Given the description of an element on the screen output the (x, y) to click on. 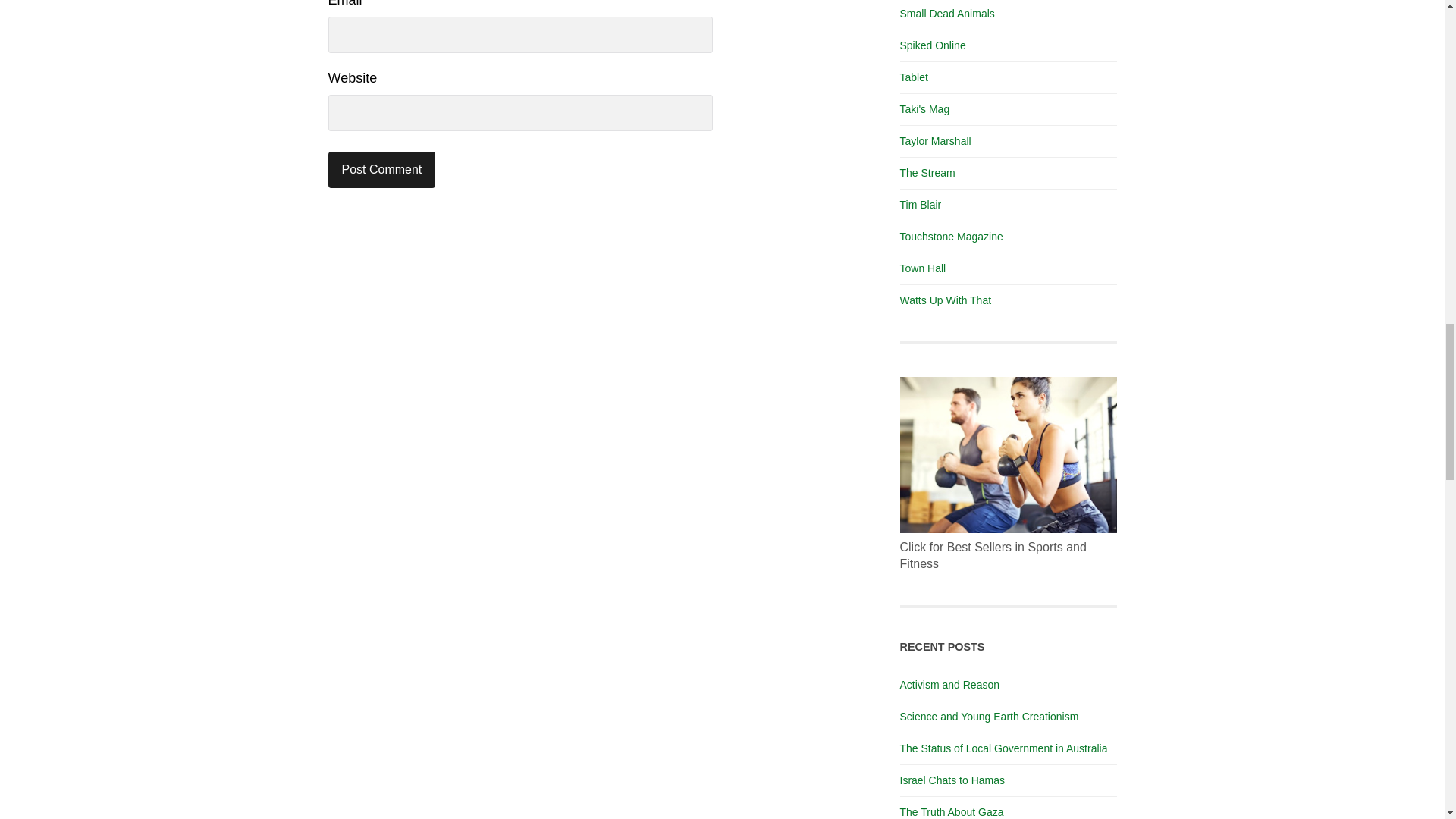
Post Comment (381, 169)
Post Comment (381, 169)
